Given the description of an element on the screen output the (x, y) to click on. 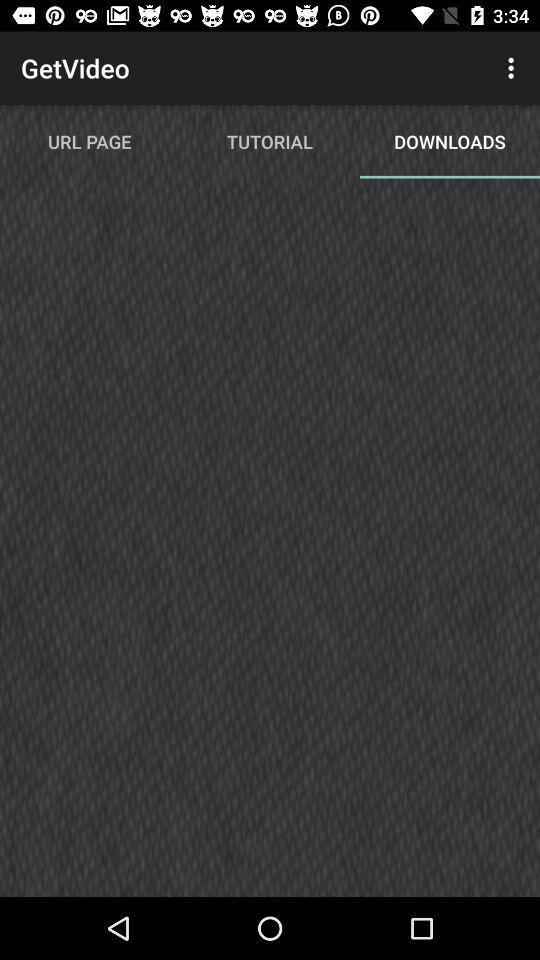
tap the app above the downloads app (513, 67)
